Given the description of an element on the screen output the (x, y) to click on. 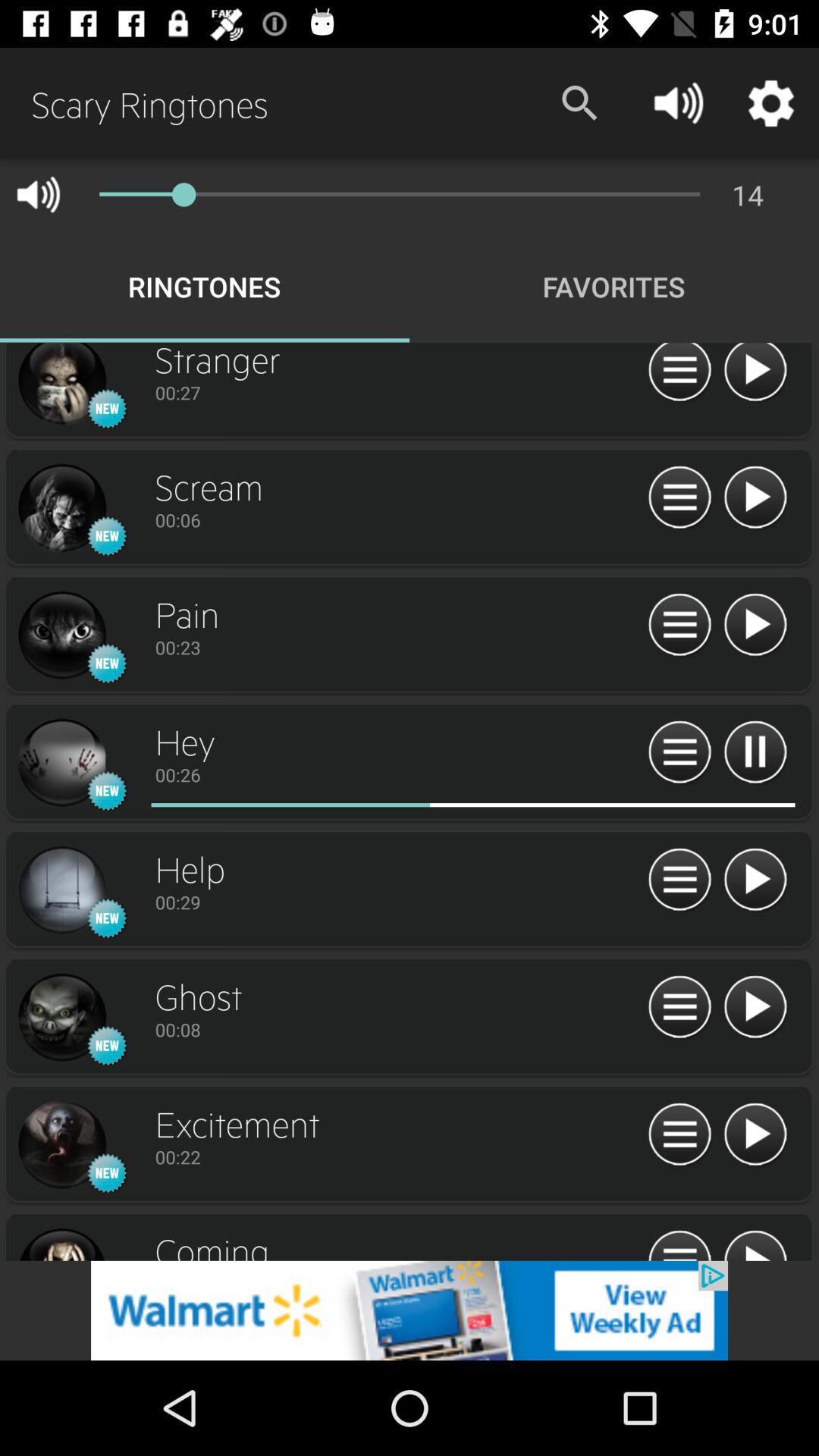
go to play button (755, 880)
